Given the description of an element on the screen output the (x, y) to click on. 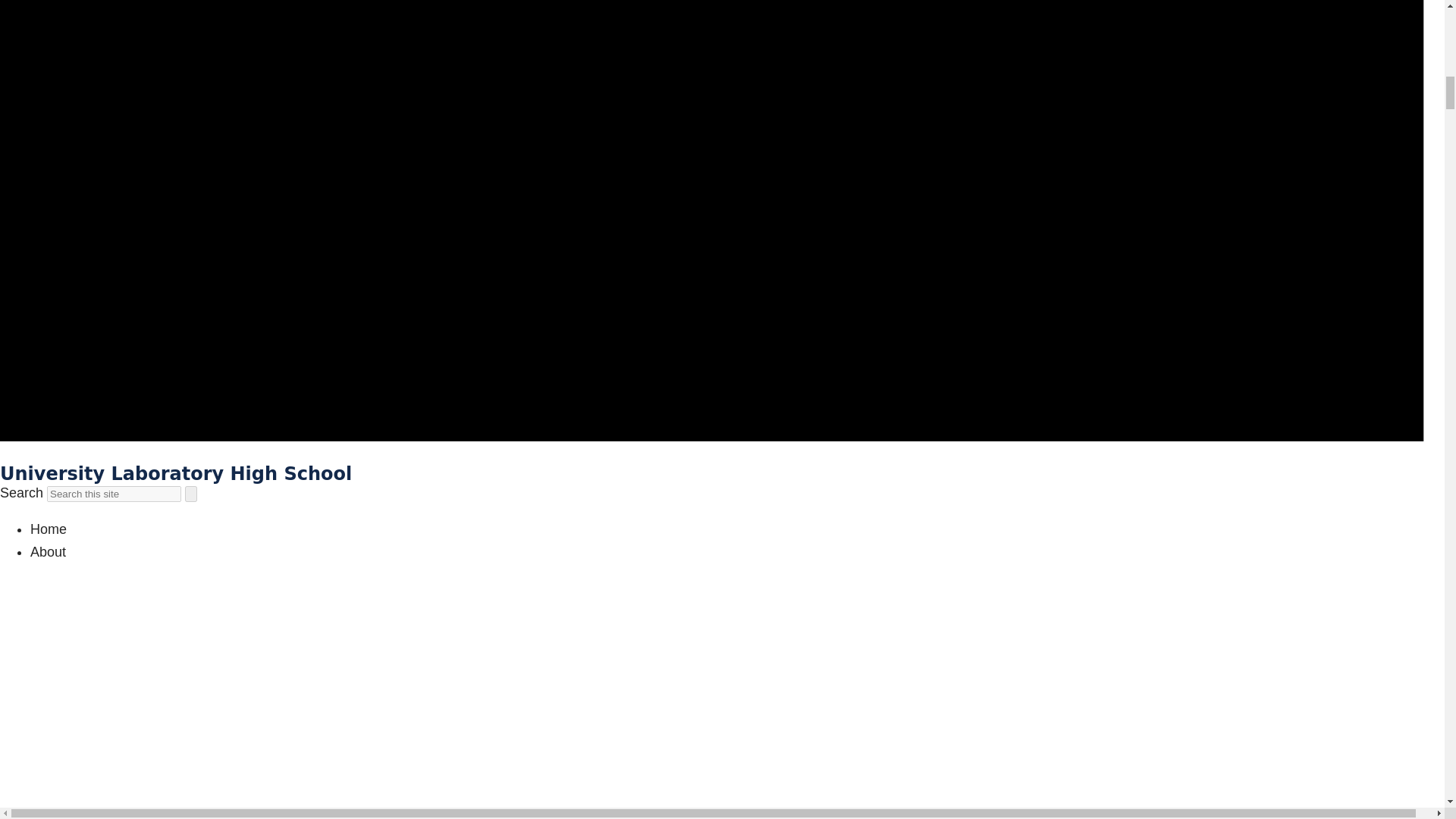
University Laboratory High School (176, 473)
Home (48, 529)
About (47, 551)
